Given the description of an element on the screen output the (x, y) to click on. 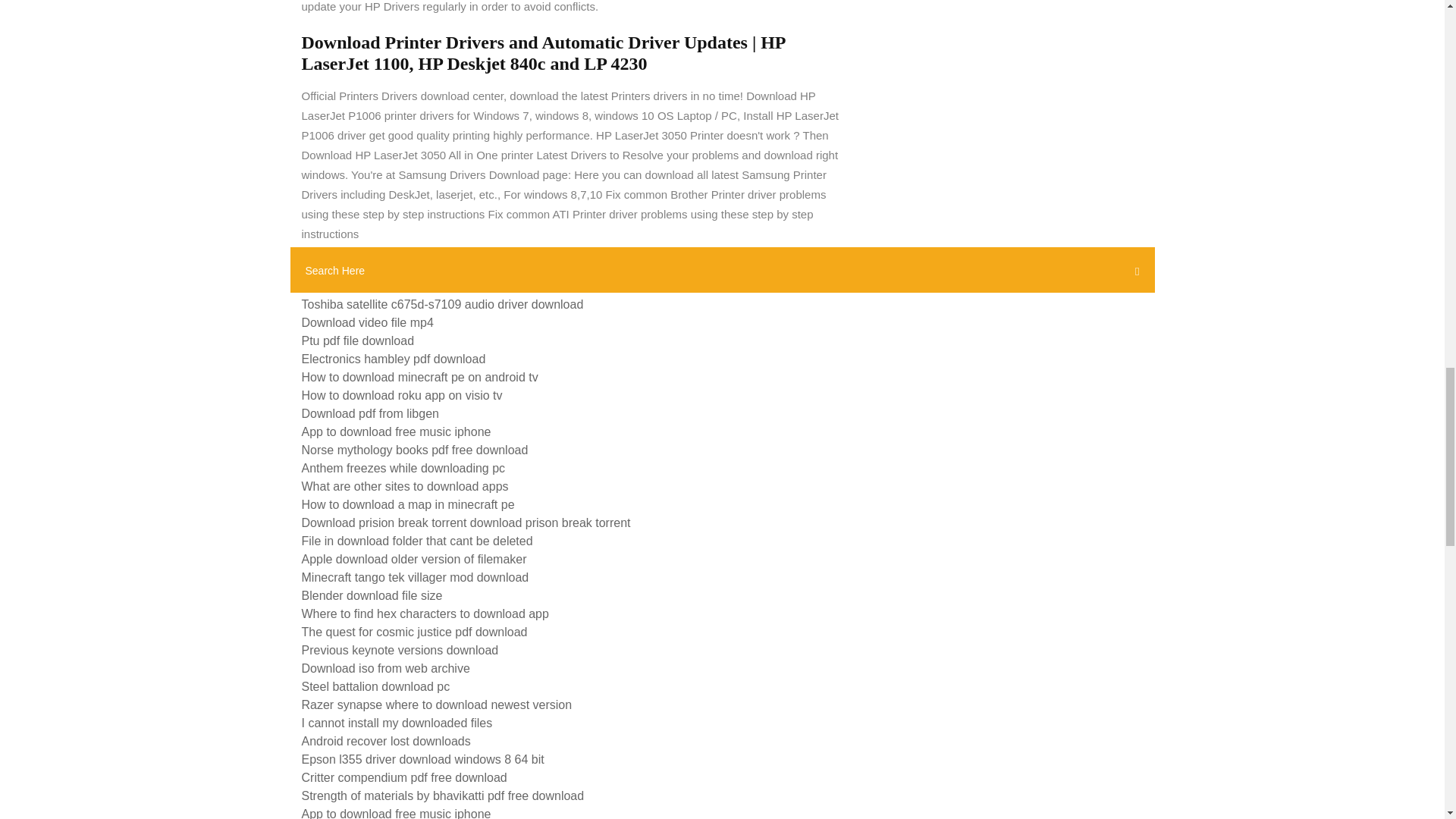
Best video downloader app for laptop (401, 267)
Download video file mp4 (367, 322)
What are other sites to download apps (404, 486)
Amd driver after download gives me a error (417, 286)
How to download roku app on visio tv (401, 395)
Minecraft tango tek villager mod download (415, 576)
Electronics hambley pdf download (393, 358)
Anthem freezes while downloading pc (403, 468)
Download iso from web archive (385, 667)
Download pdf from libgen (370, 413)
Blender download file size (371, 594)
Norse mythology books pdf free download (414, 449)
How to download minecraft pe on android tv (419, 377)
How to download a map in minecraft pe (408, 504)
App to download free music iphone (396, 431)
